Given the description of an element on the screen output the (x, y) to click on. 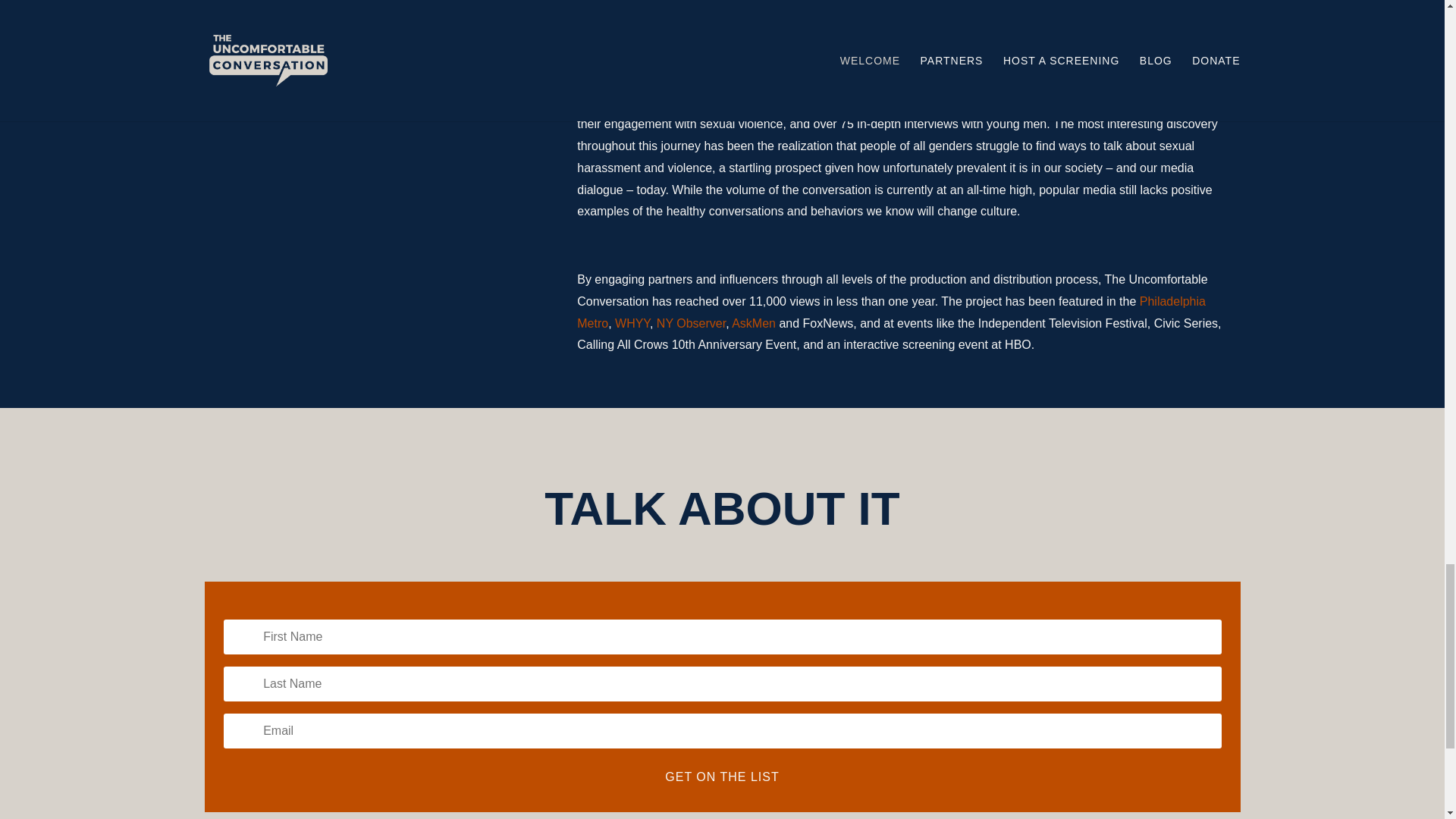
Philadelphia Metro (890, 312)
AskMen (754, 323)
WHYY (631, 323)
NY Observer (690, 323)
GET ON THE LIST (721, 776)
